Given the description of an element on the screen output the (x, y) to click on. 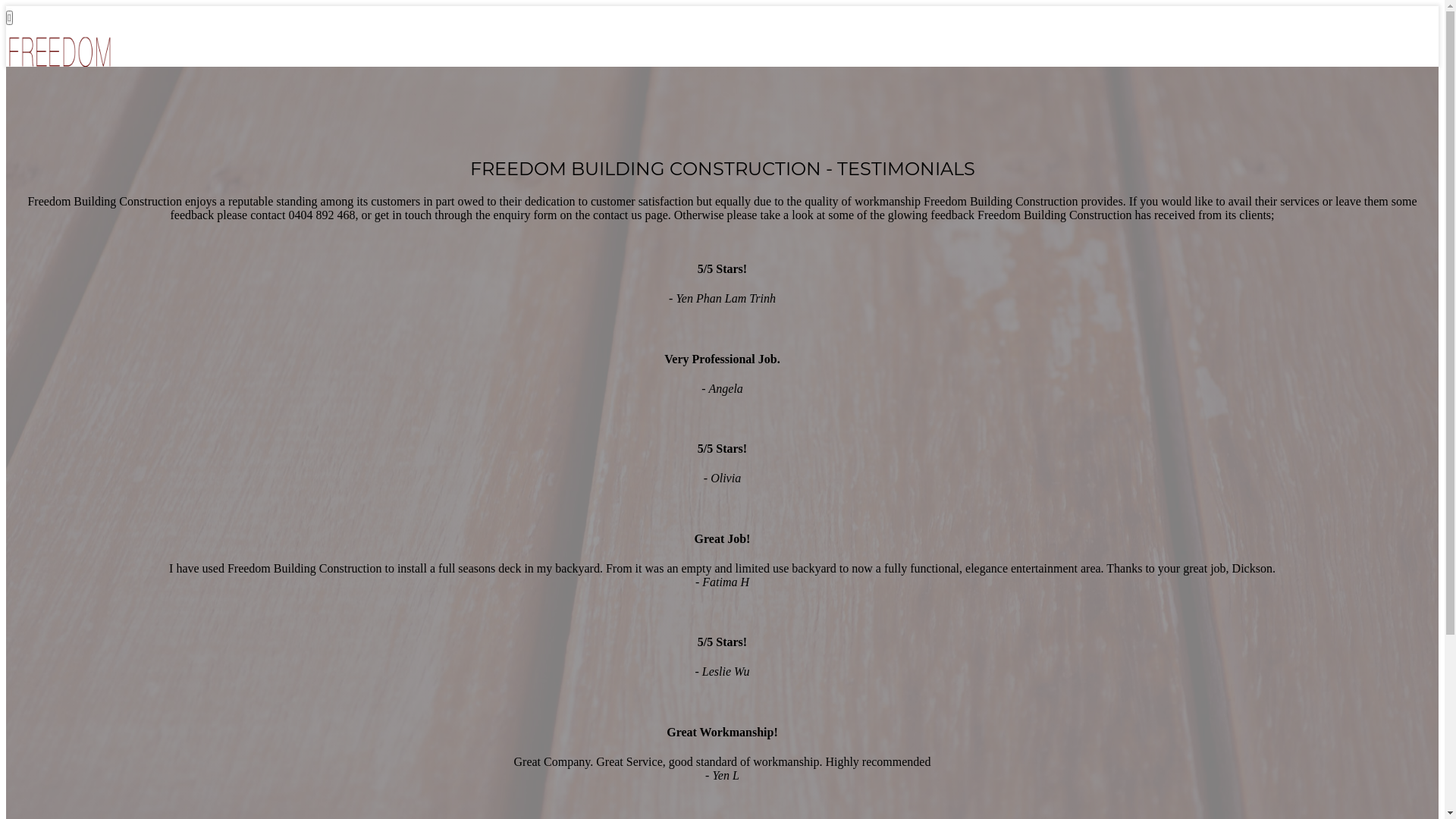
Contact Us Element type: text (63, 134)
0404 892 468 Element type: text (69, 147)
Testimonials (current) Element type: text (90, 120)
Home Element type: text (50, 106)
